Given the description of an element on the screen output the (x, y) to click on. 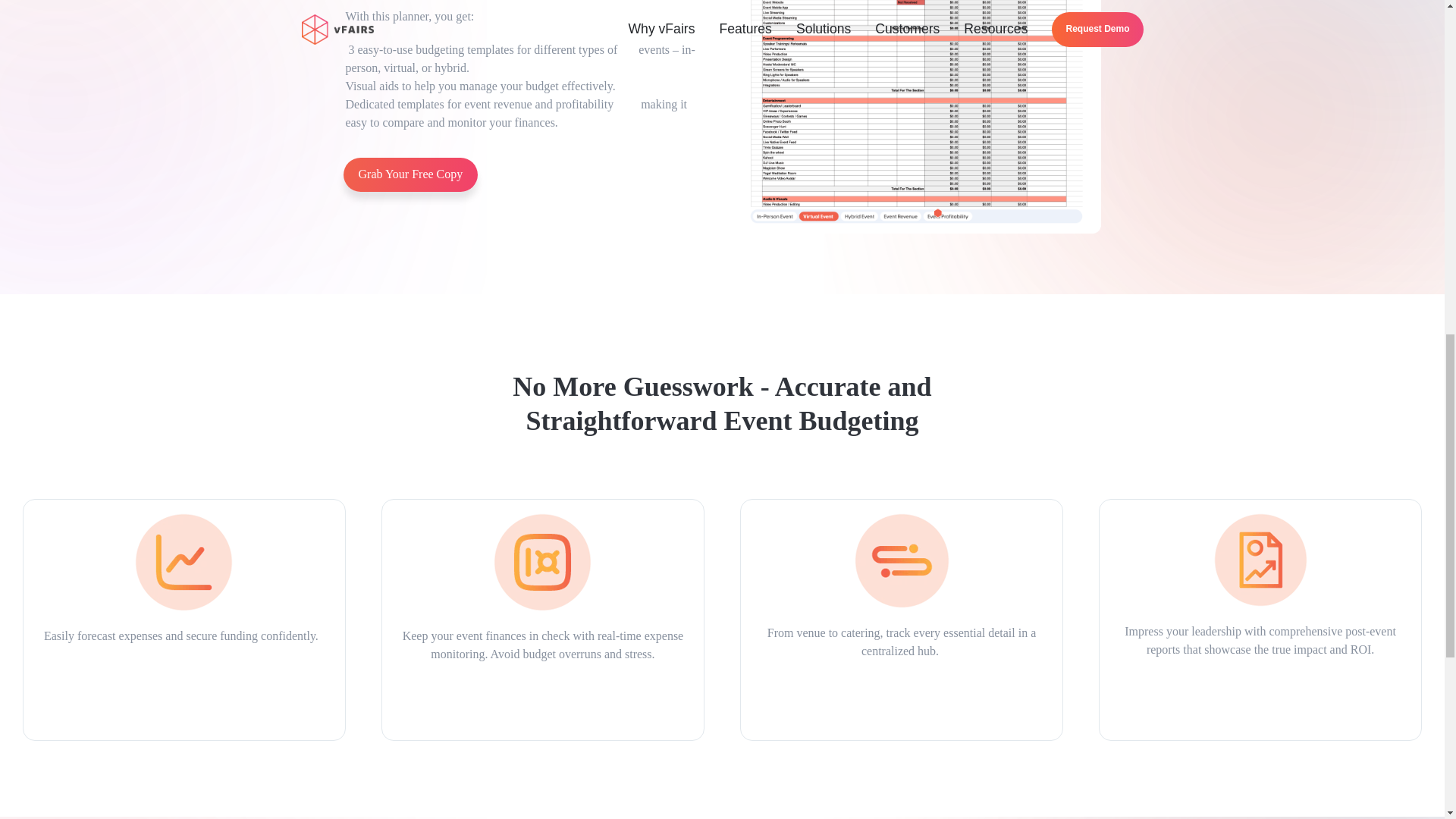
Budget-Planner-GIF (916, 116)
Grab Your Free Copy (409, 174)
